Given the description of an element on the screen output the (x, y) to click on. 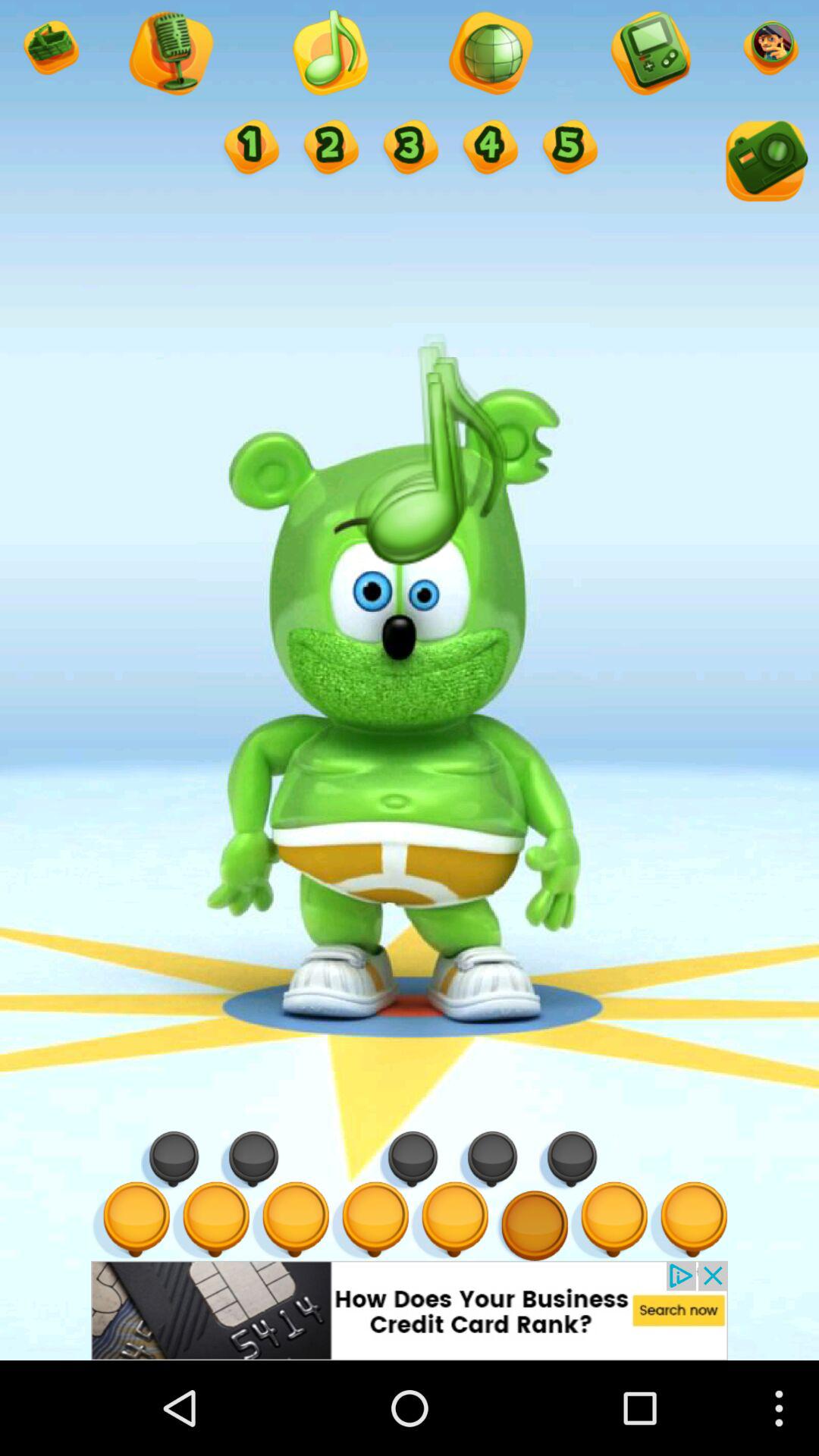
click on the button (409, 149)
